Given the description of an element on the screen output the (x, y) to click on. 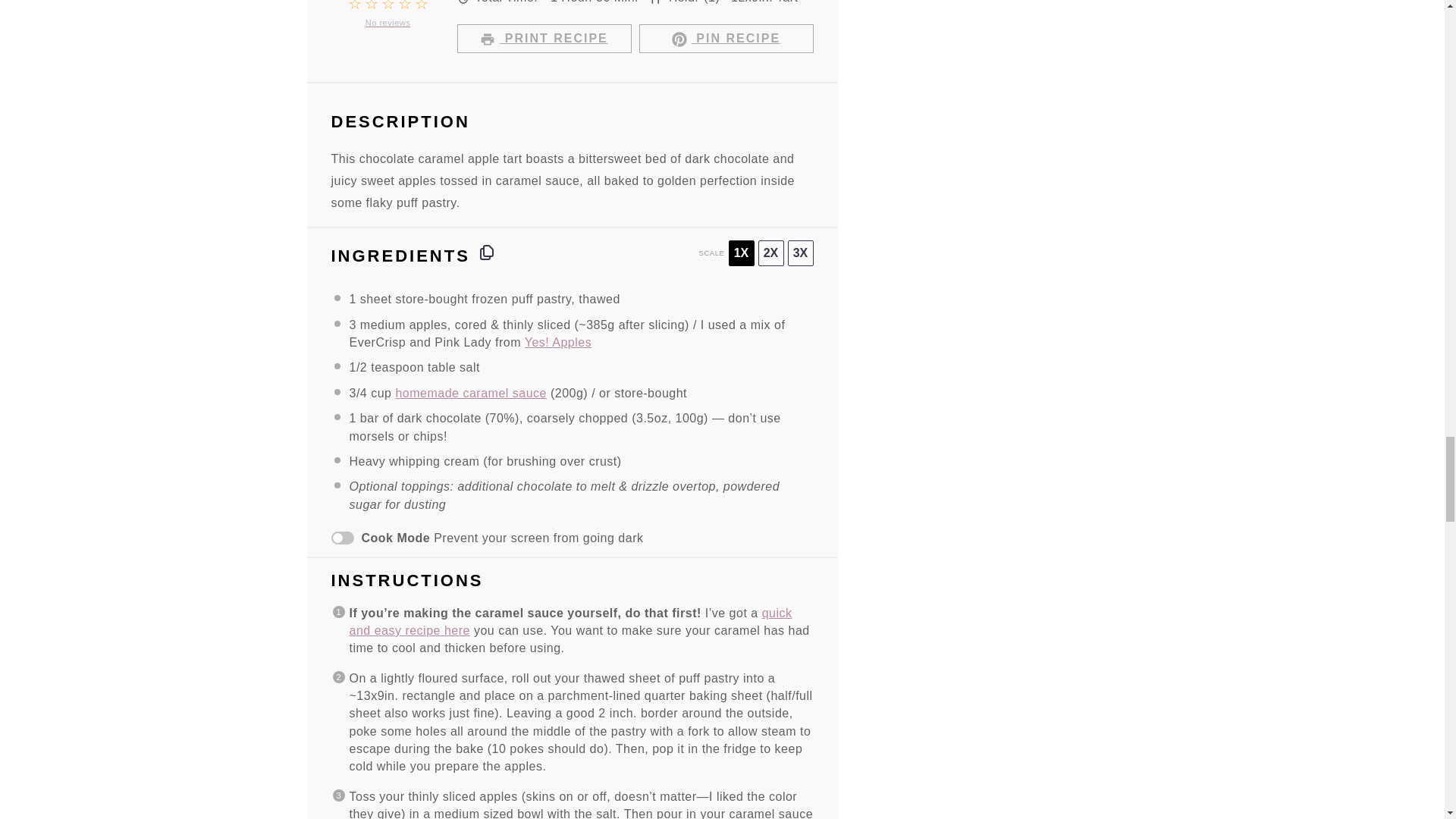
PIN RECIPE (725, 38)
COPY TO CLIPBOARD COPY TO CLIPBOARD (486, 252)
PRINT RECIPE (543, 38)
